Given the description of an element on the screen output the (x, y) to click on. 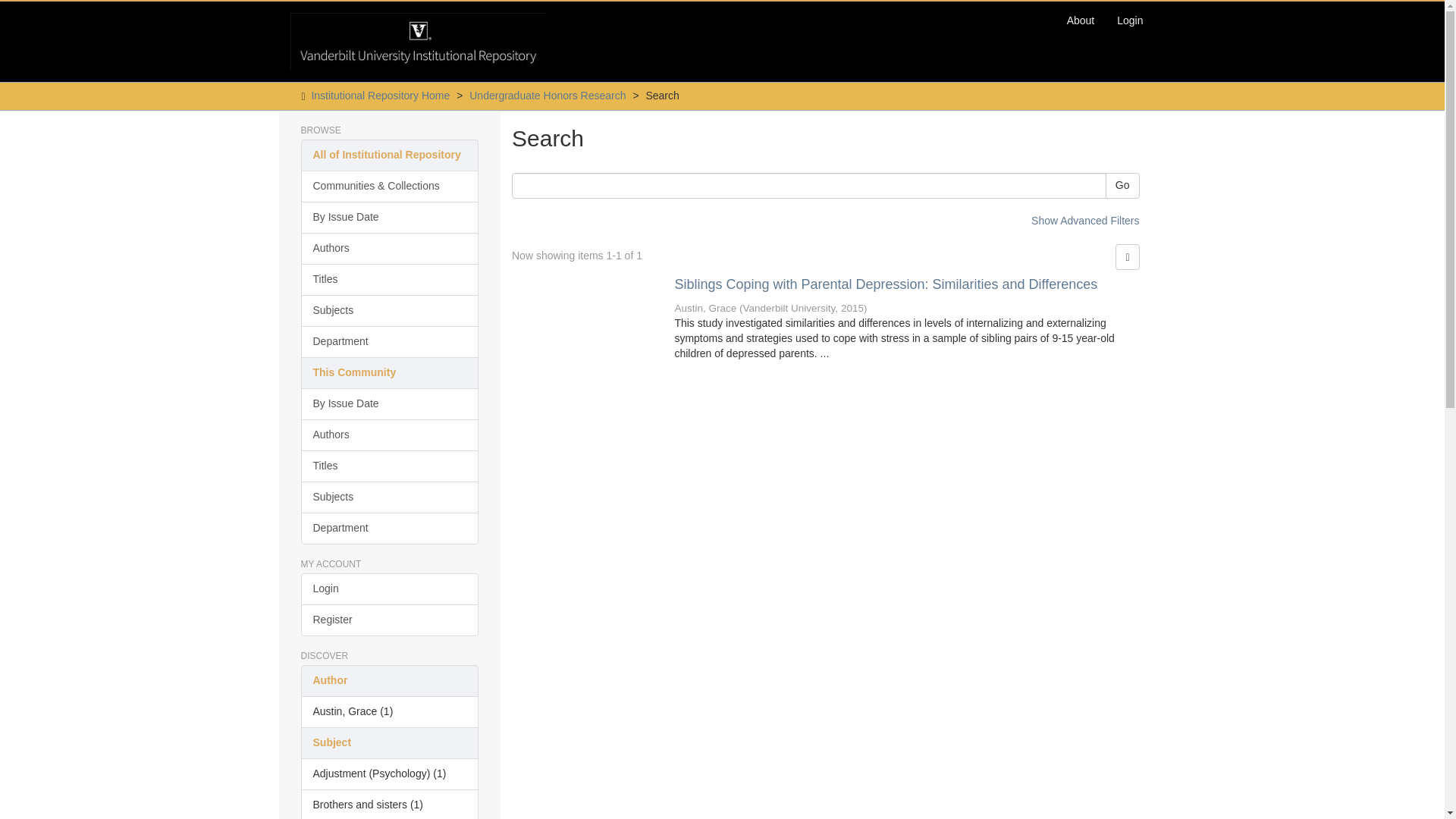
Subjects (389, 310)
Department (389, 528)
Register (389, 620)
Titles (389, 279)
Subjects (389, 497)
Login (389, 589)
Show Advanced Filters (1084, 220)
Subject (389, 743)
All of Institutional Repository (389, 155)
About (1080, 20)
By Issue Date (389, 404)
Department (389, 341)
Authors (389, 248)
Go (1122, 185)
By Issue Date (389, 217)
